Given the description of an element on the screen output the (x, y) to click on. 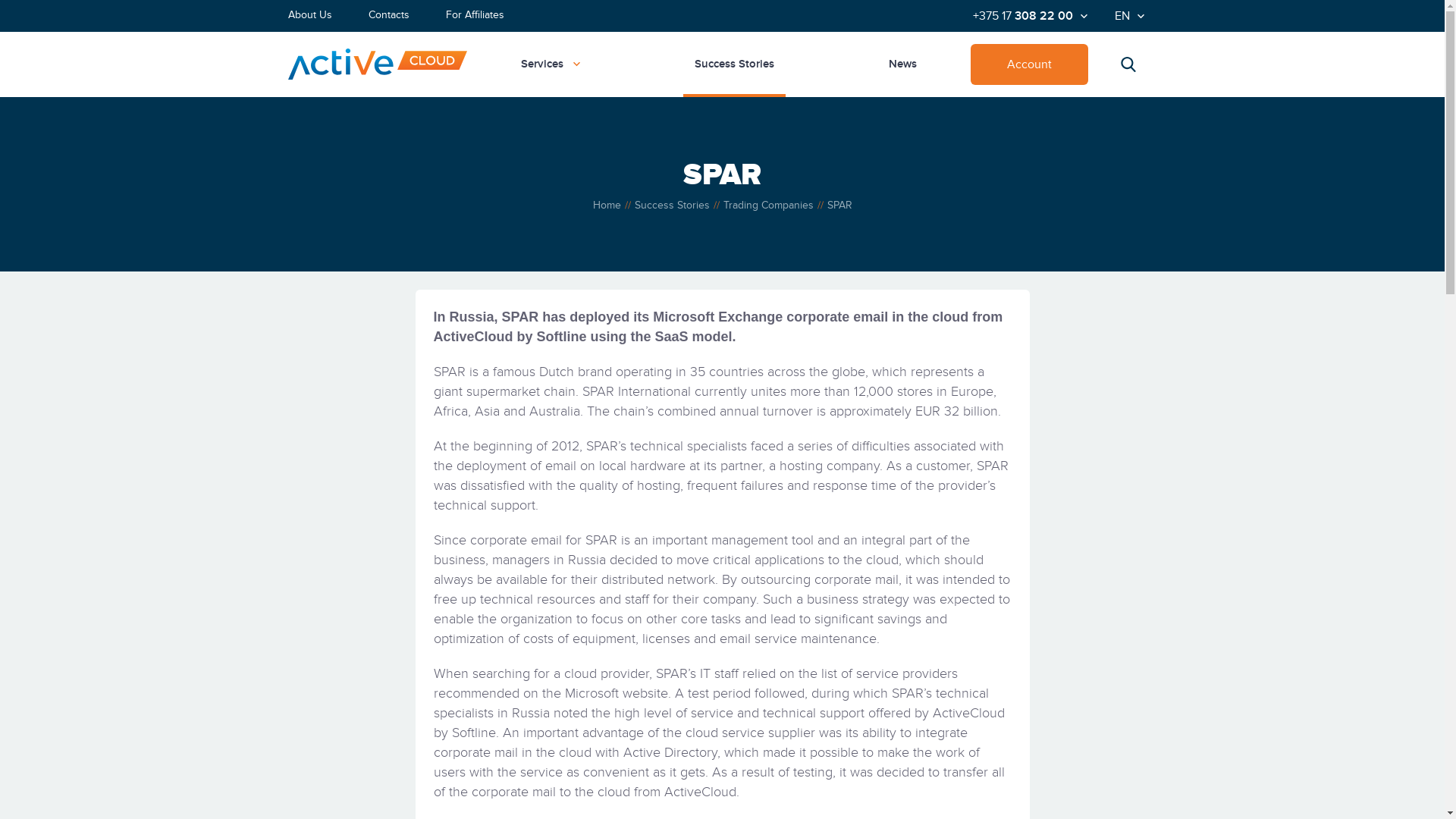
Trading Companies Element type: text (768, 205)
News Element type: text (902, 64)
Success Stories Element type: text (671, 205)
Home Element type: text (607, 205)
For Affiliates Element type: text (474, 15)
About Us Element type: text (309, 15)
Success Stories Element type: text (734, 64)
Contacts Element type: text (388, 15)
Account Element type: text (1029, 63)
